Given the description of an element on the screen output the (x, y) to click on. 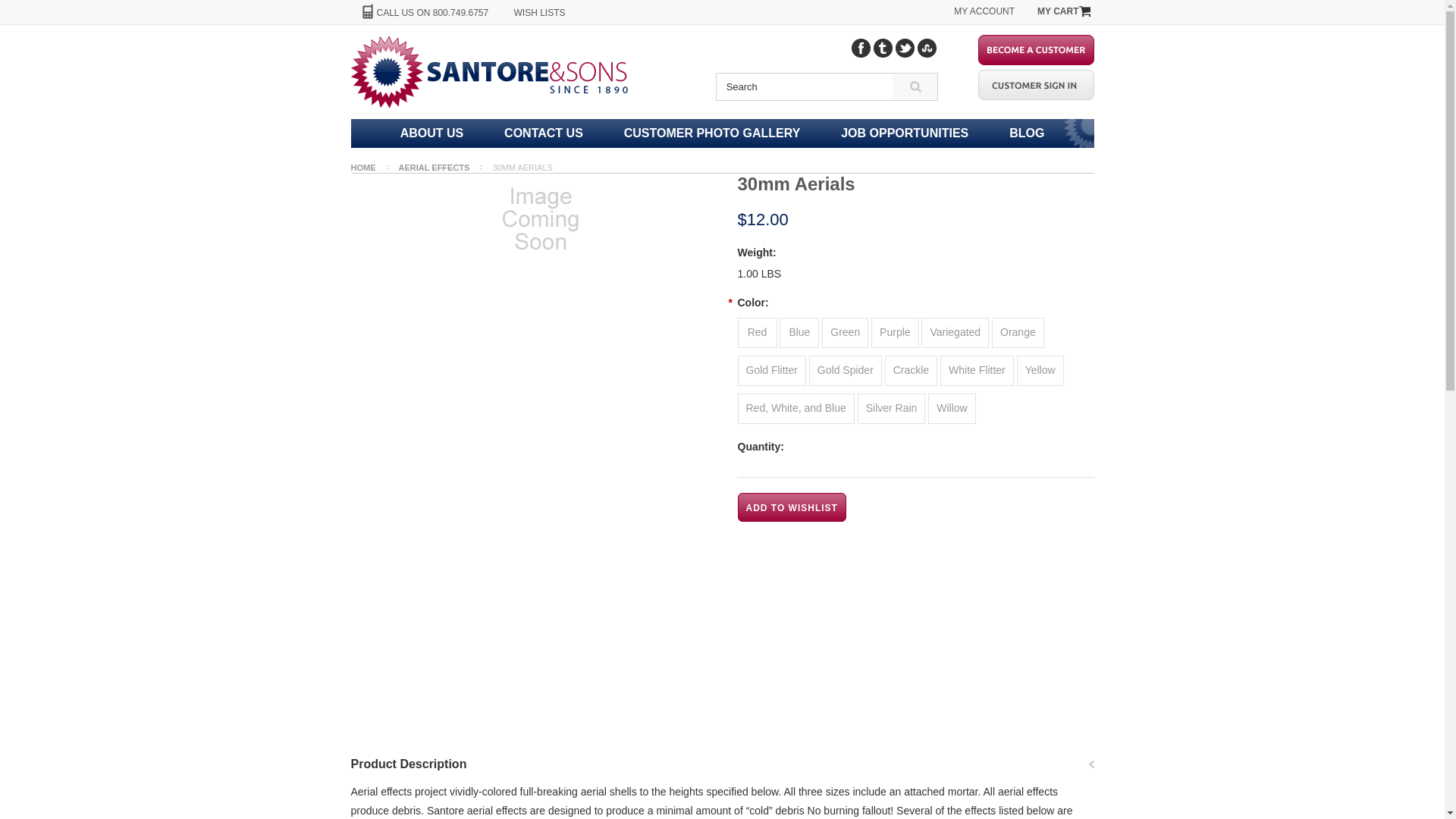
Twitter (904, 47)
Tumblr (882, 47)
Search (804, 86)
WISH LISTS (539, 12)
Search (914, 86)
MY ACCOUNT (983, 10)
ABOUT US (432, 133)
Twitter (904, 47)
Facebook (860, 47)
Tumblr (882, 47)
Add to Wishlist (790, 507)
Facebook (860, 47)
StumbleUpon (926, 47)
StumbleUpon (926, 47)
Add to Wishlist (790, 507)
